Given the description of an element on the screen output the (x, y) to click on. 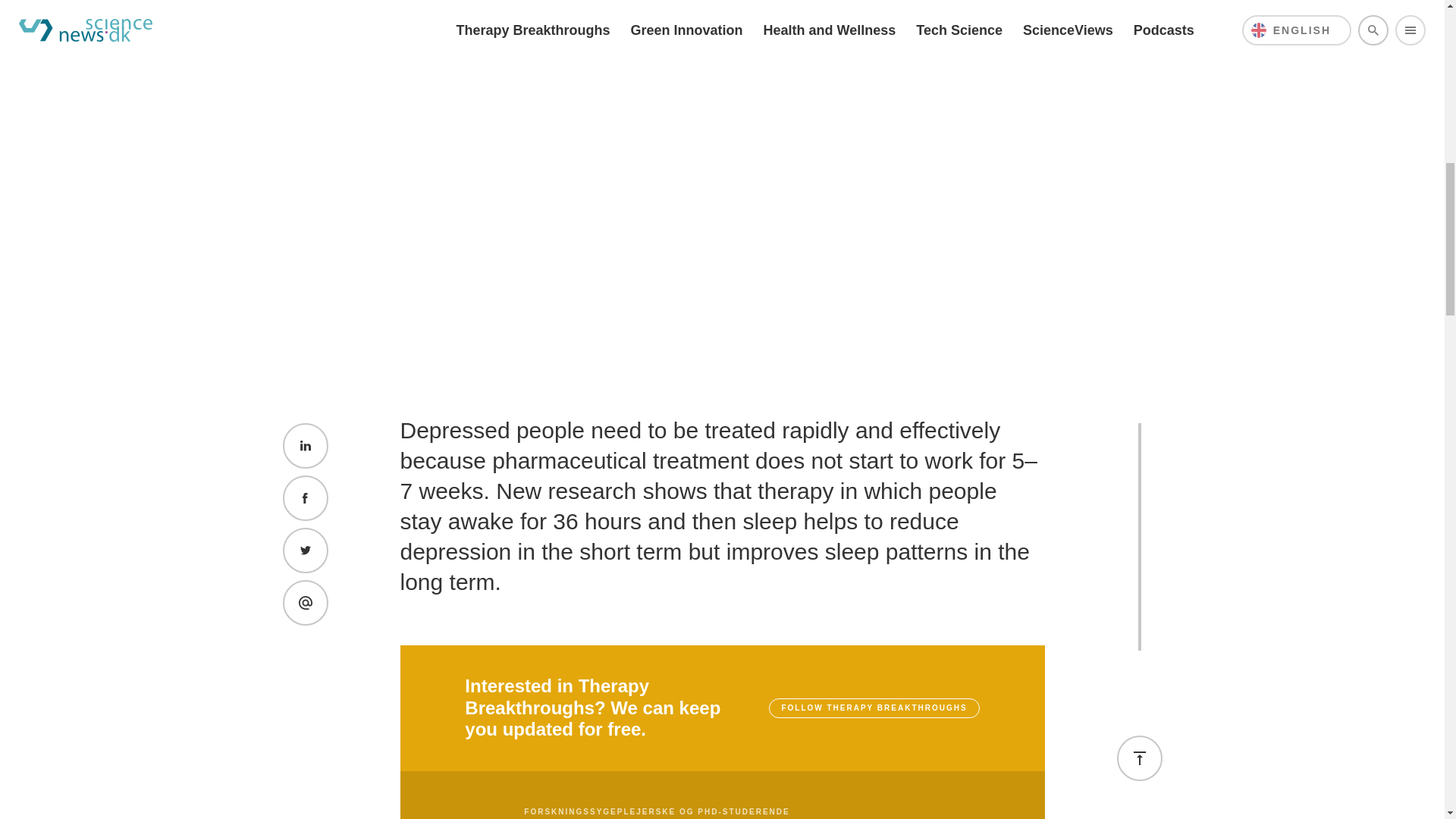
FOLLOW THERAPY BREAKTHROUGHS (873, 708)
